Given the description of an element on the screen output the (x, y) to click on. 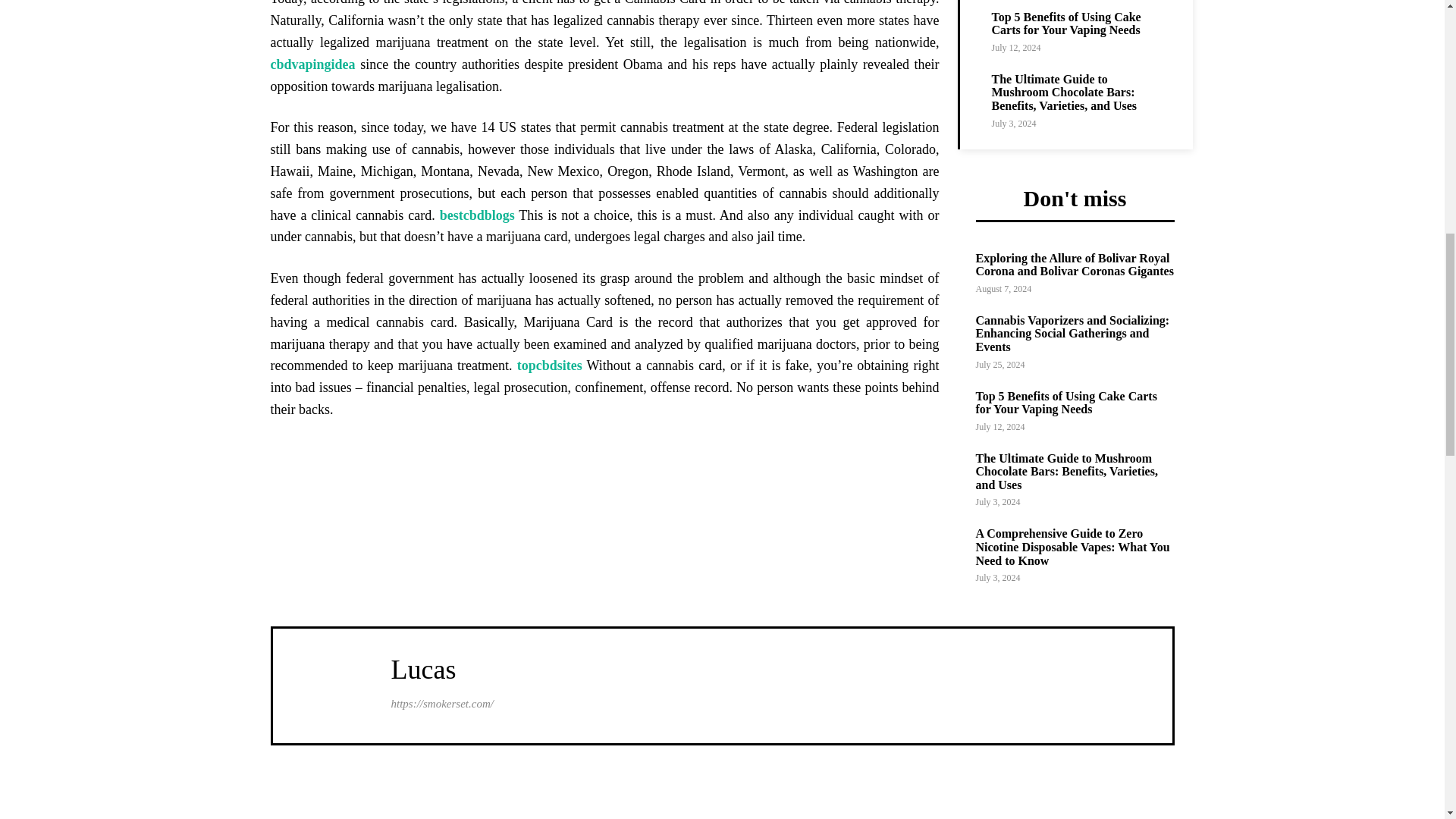
cbdvapingidea (312, 64)
Top 5 Benefits of Using Cake Carts for Your Vaping Needs (1066, 23)
Top 5 Benefits of Using Cake Carts for Your Vaping Needs (1066, 23)
topcbdsites (549, 365)
bestcbdblogs (477, 215)
